Given the description of an element on the screen output the (x, y) to click on. 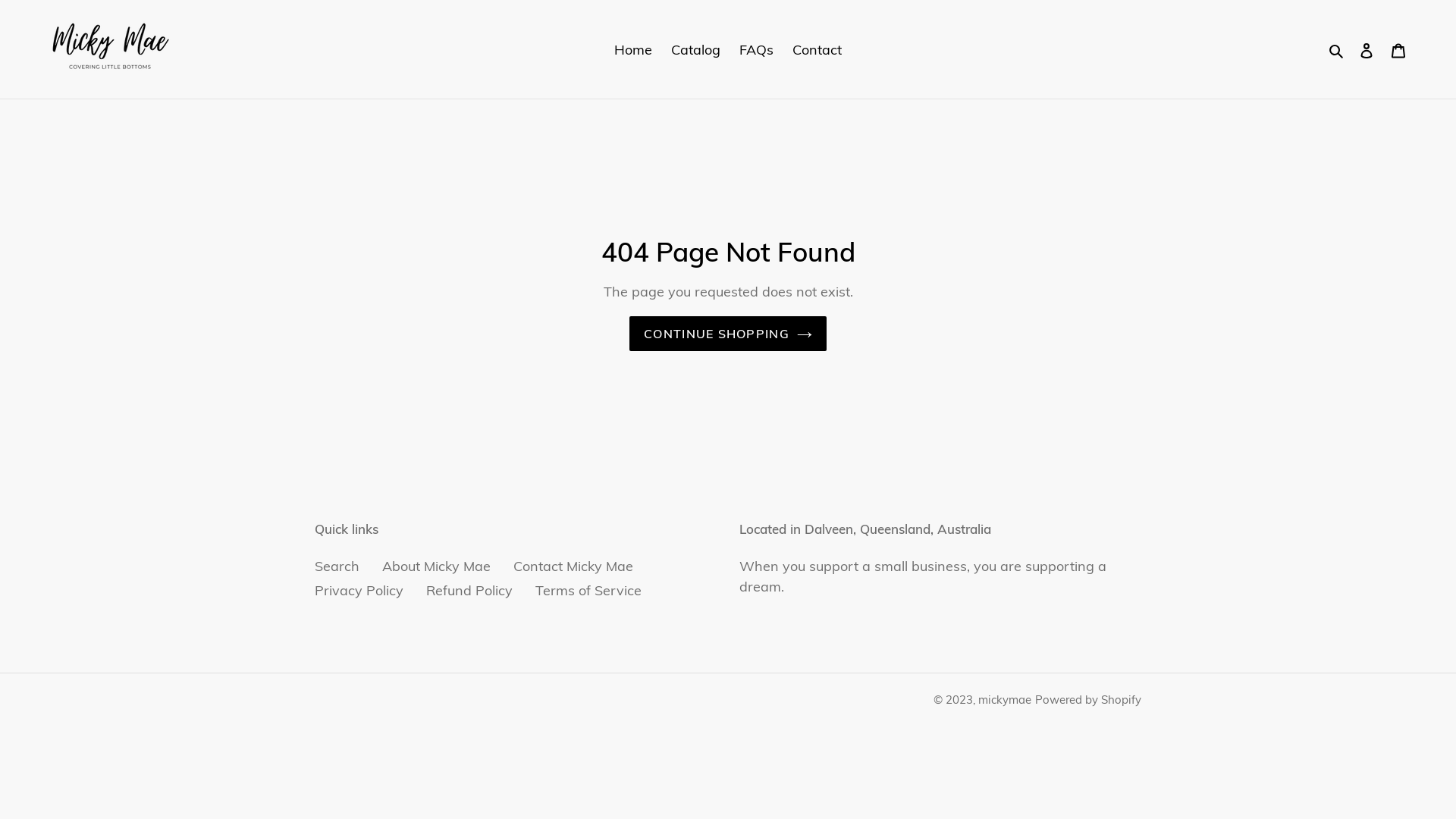
Terms of Service Element type: text (588, 590)
Cart Element type: text (1398, 49)
Contact Element type: text (816, 48)
Refund Policy Element type: text (469, 590)
Home Element type: text (632, 48)
Privacy Policy Element type: text (358, 590)
Search Element type: text (1337, 48)
mickymae Element type: text (1004, 699)
Catalog Element type: text (695, 48)
Powered by Shopify Element type: text (1088, 699)
FAQs Element type: text (756, 48)
CONTINUE SHOPPING Element type: text (727, 333)
Log in Element type: text (1366, 49)
About Micky Mae Element type: text (436, 565)
Search Element type: text (336, 565)
Contact Micky Mae Element type: text (573, 565)
